Given the description of an element on the screen output the (x, y) to click on. 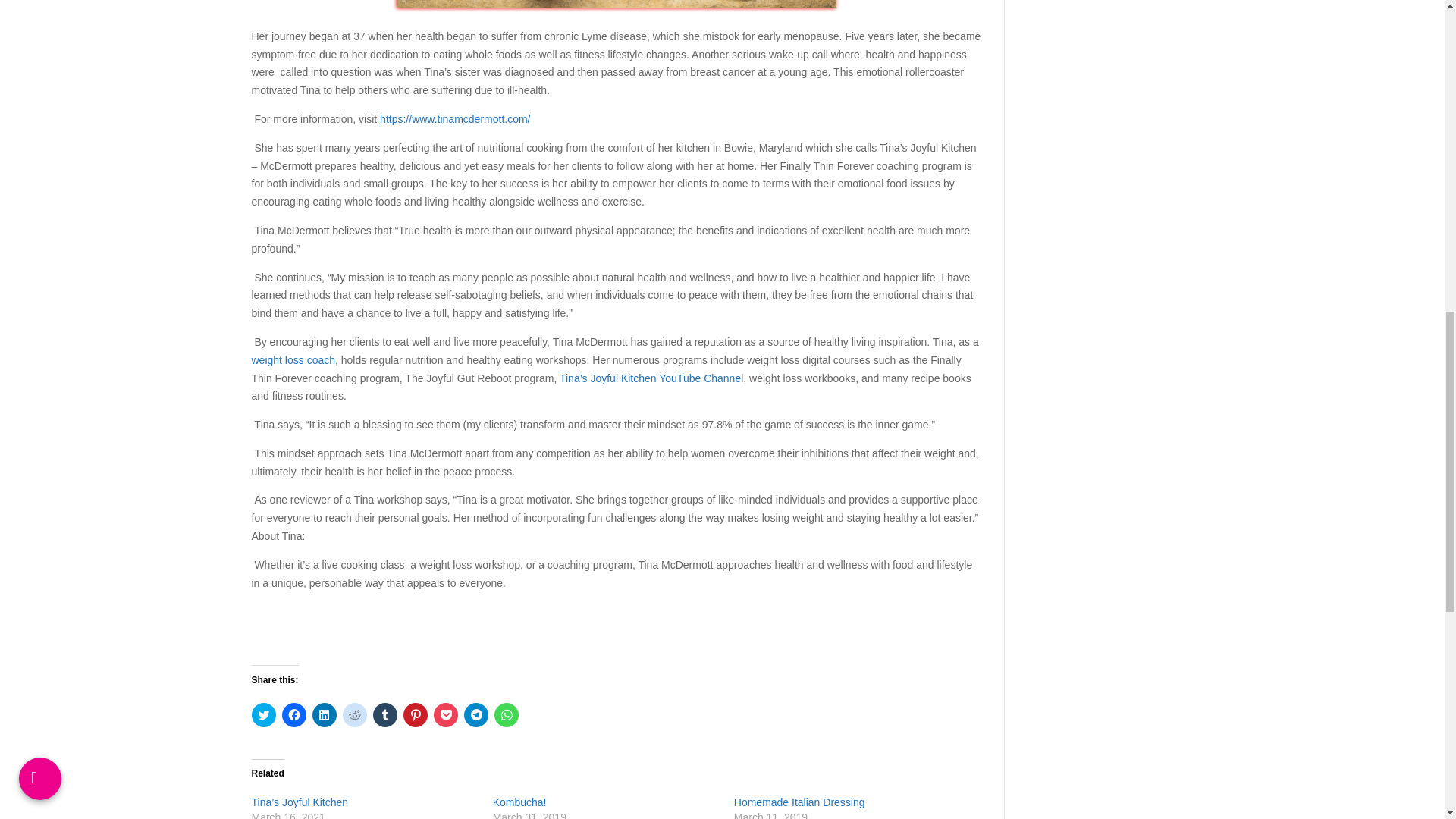
Click to share on Telegram (475, 714)
weight loss coach (293, 359)
excuses (616, 3)
Click to share on WhatsApp (506, 714)
Click to share on Pinterest (415, 714)
Click to share on Tumblr (384, 714)
Kombucha! (520, 802)
Click to share on LinkedIn (324, 714)
Click to share on Facebook (293, 714)
Click to share on Reddit (354, 714)
Click to share on Pocket (445, 714)
Click to share on Twitter (263, 714)
Homemade Italian Dressing (798, 802)
